Given the description of an element on the screen output the (x, y) to click on. 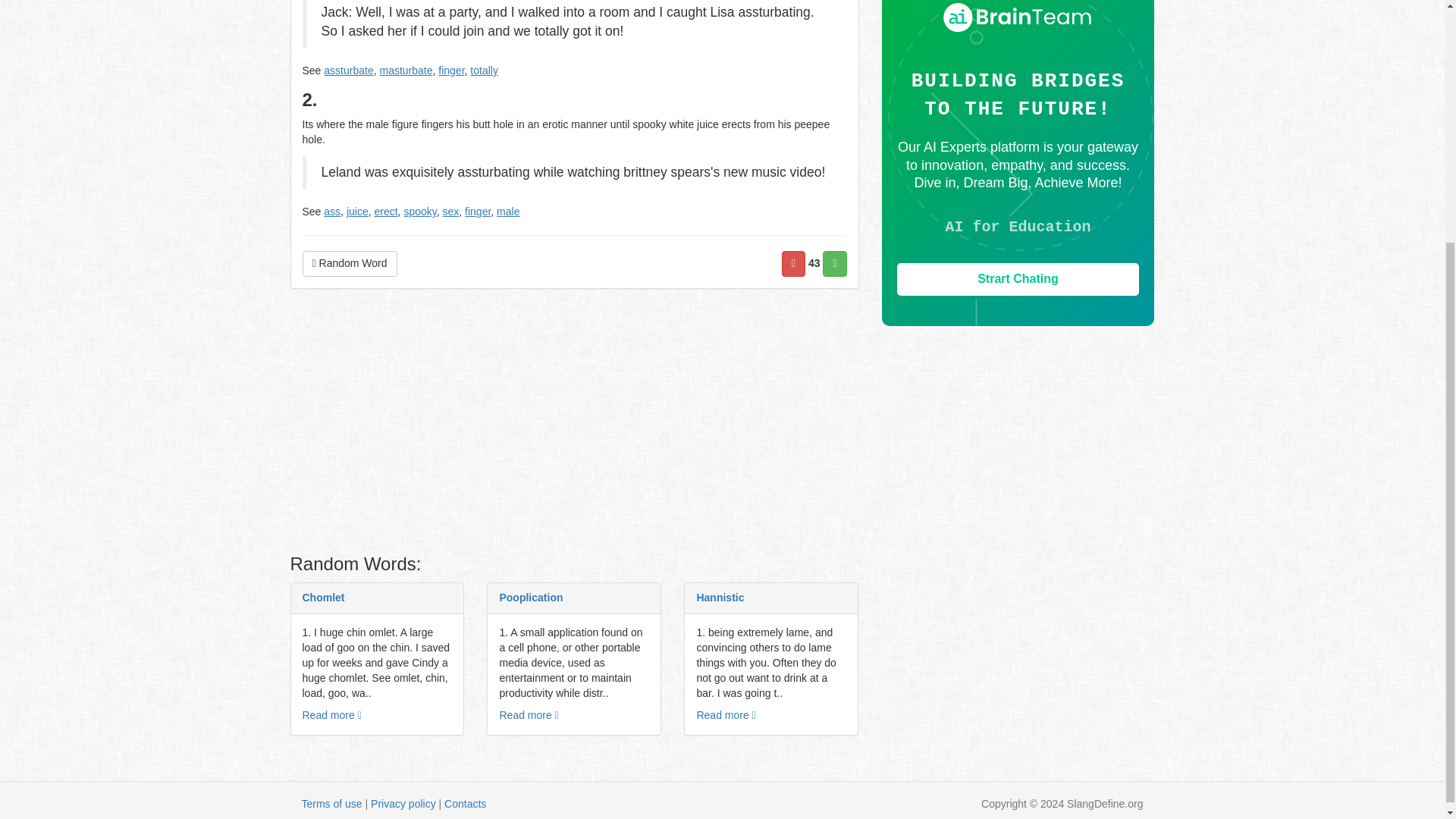
Read more (331, 715)
Privacy policy (403, 803)
Strart Chating (1017, 278)
Random Word (348, 263)
Hannistic (719, 597)
Read more (725, 715)
Read more (528, 715)
Contacts (465, 803)
Chomlet (322, 597)
Pooplication (530, 597)
Terms of use (331, 803)
Advertisement (574, 425)
